Given the description of an element on the screen output the (x, y) to click on. 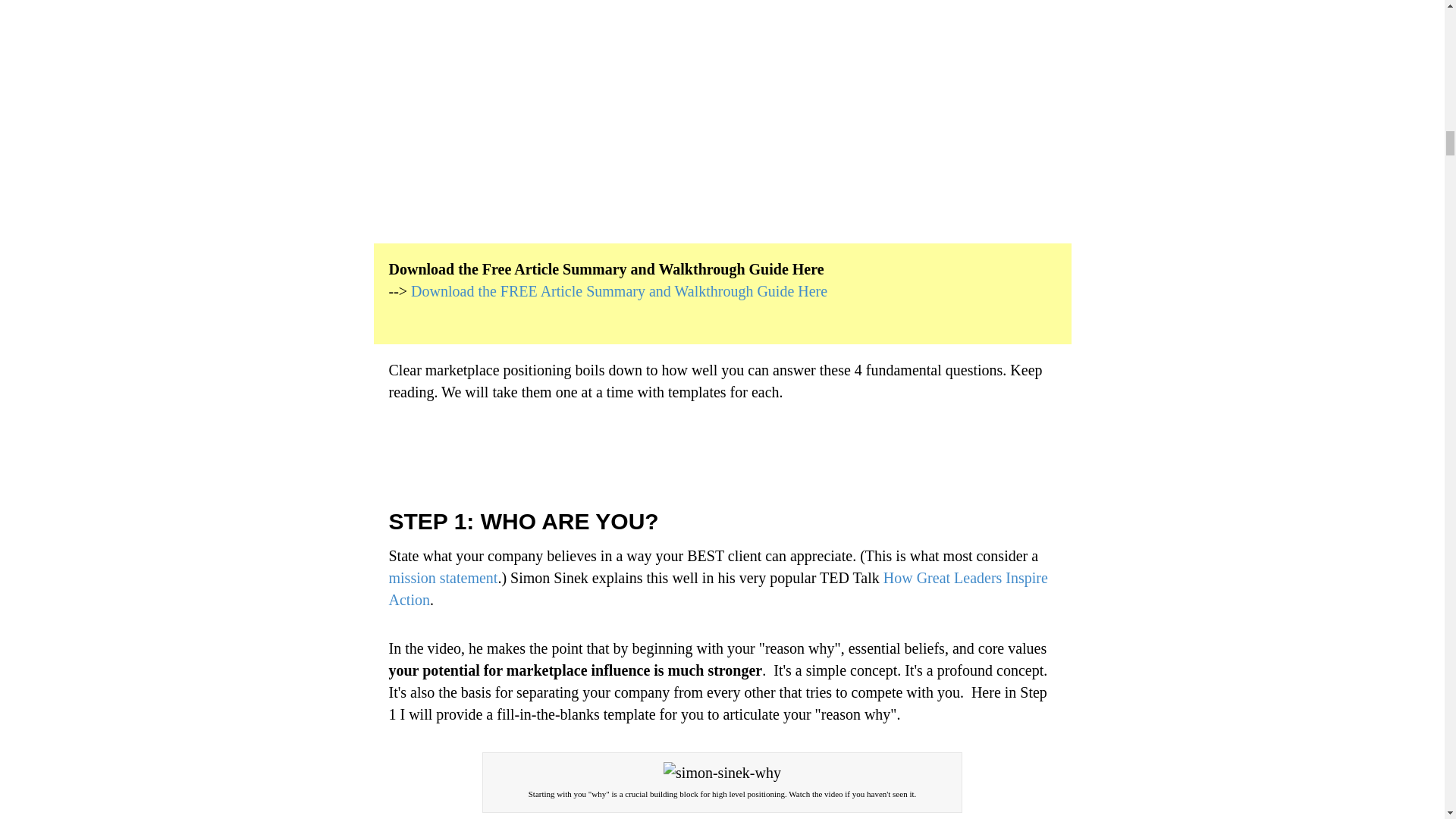
Download the FREE Article Summary and Walkthrough Guide Here (618, 290)
How Great Leaders Inspire Action (717, 588)
mission statement (442, 577)
